Given the description of an element on the screen output the (x, y) to click on. 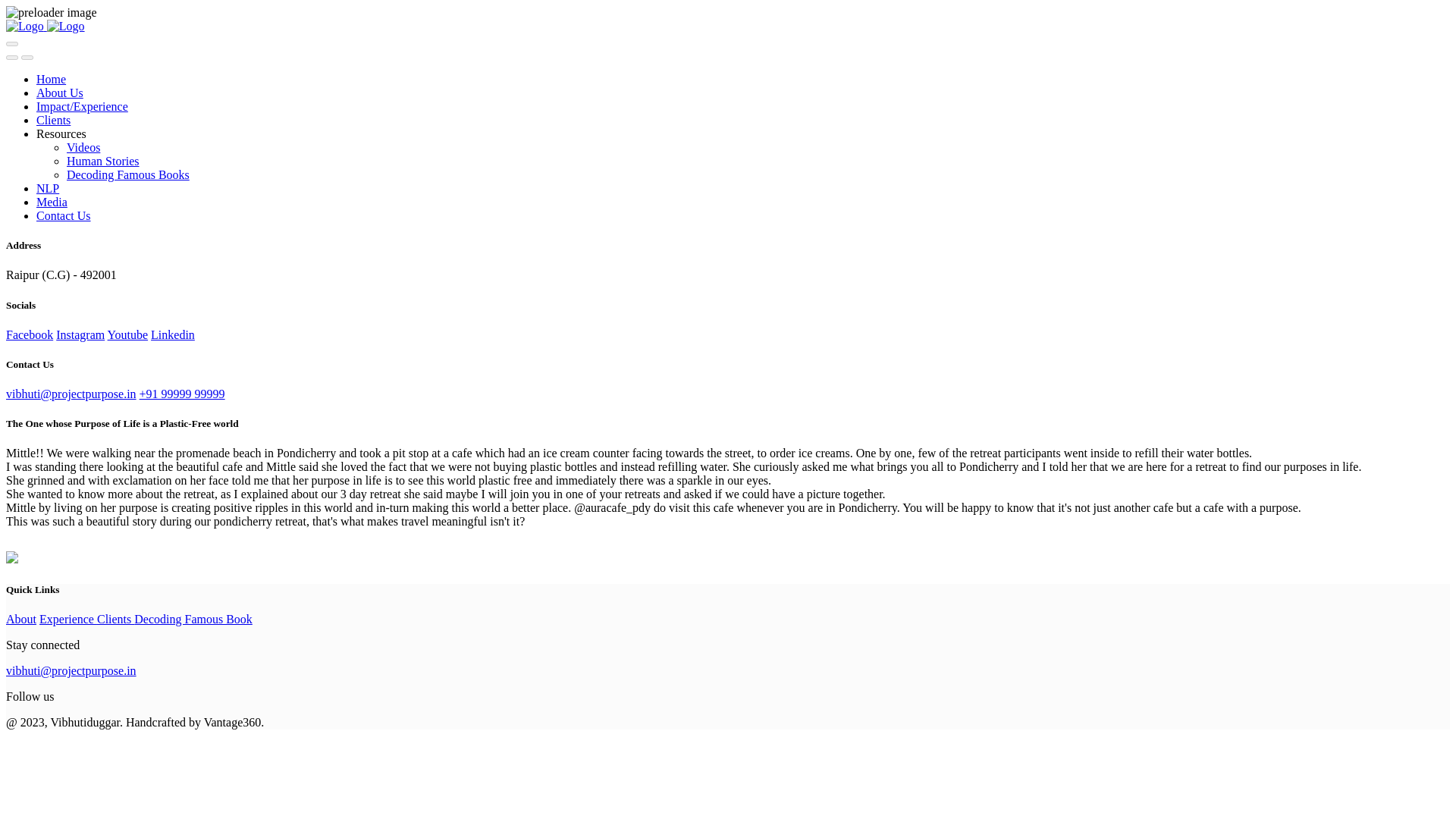
Facebook (28, 334)
Decoding Famous Book (192, 618)
Resources (60, 133)
Instagram (80, 334)
Clients (52, 119)
Experience (68, 618)
Human Stories (102, 160)
Contact Us (63, 215)
NLP (47, 187)
Decoding Famous Books (127, 174)
Clients (115, 618)
Linkedin (173, 334)
About (20, 618)
Videos (83, 146)
Media (51, 201)
